Given the description of an element on the screen output the (x, y) to click on. 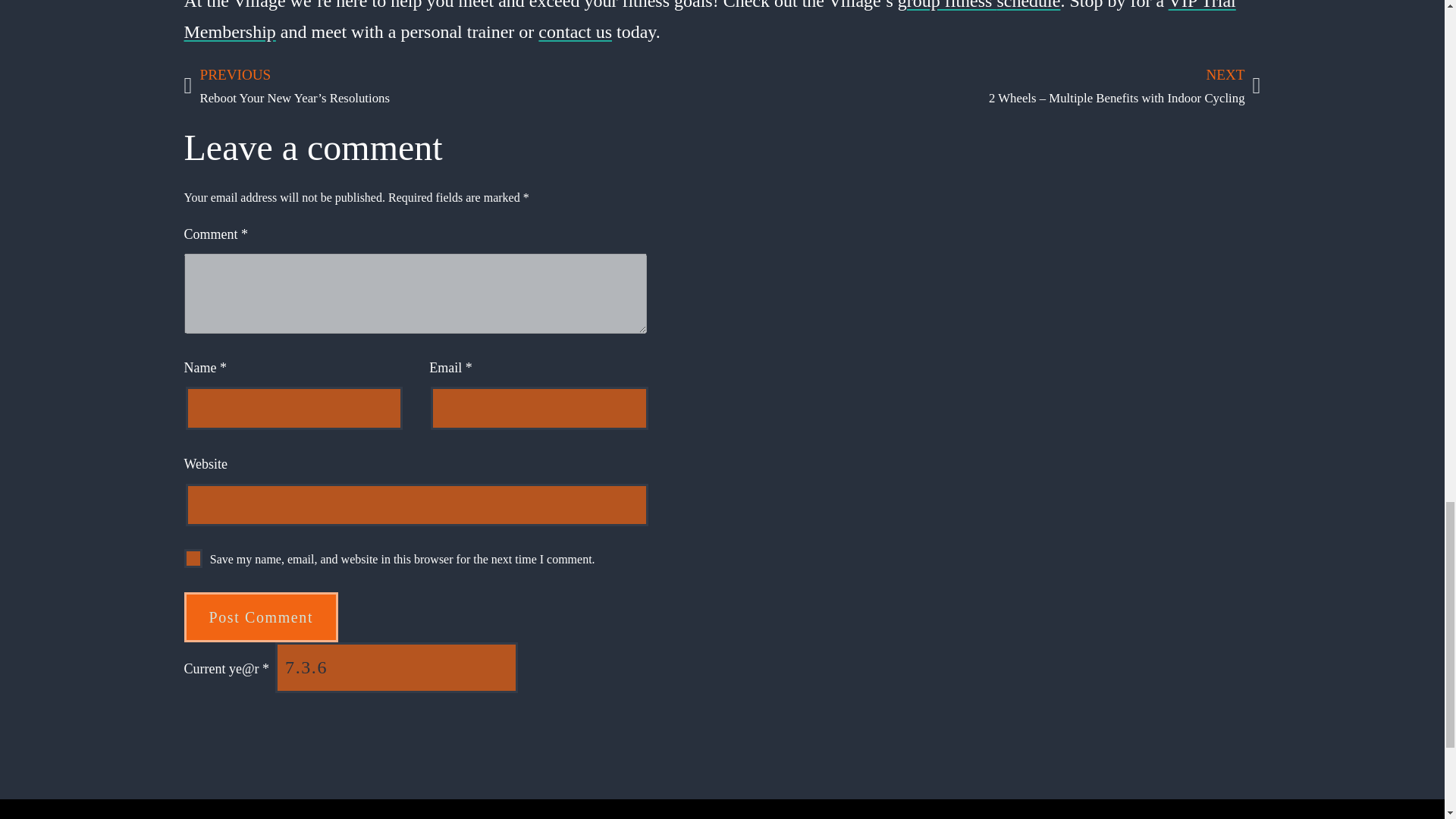
yes (192, 558)
7.3.6 (396, 667)
Post Comment (260, 617)
